Given the description of an element on the screen output the (x, y) to click on. 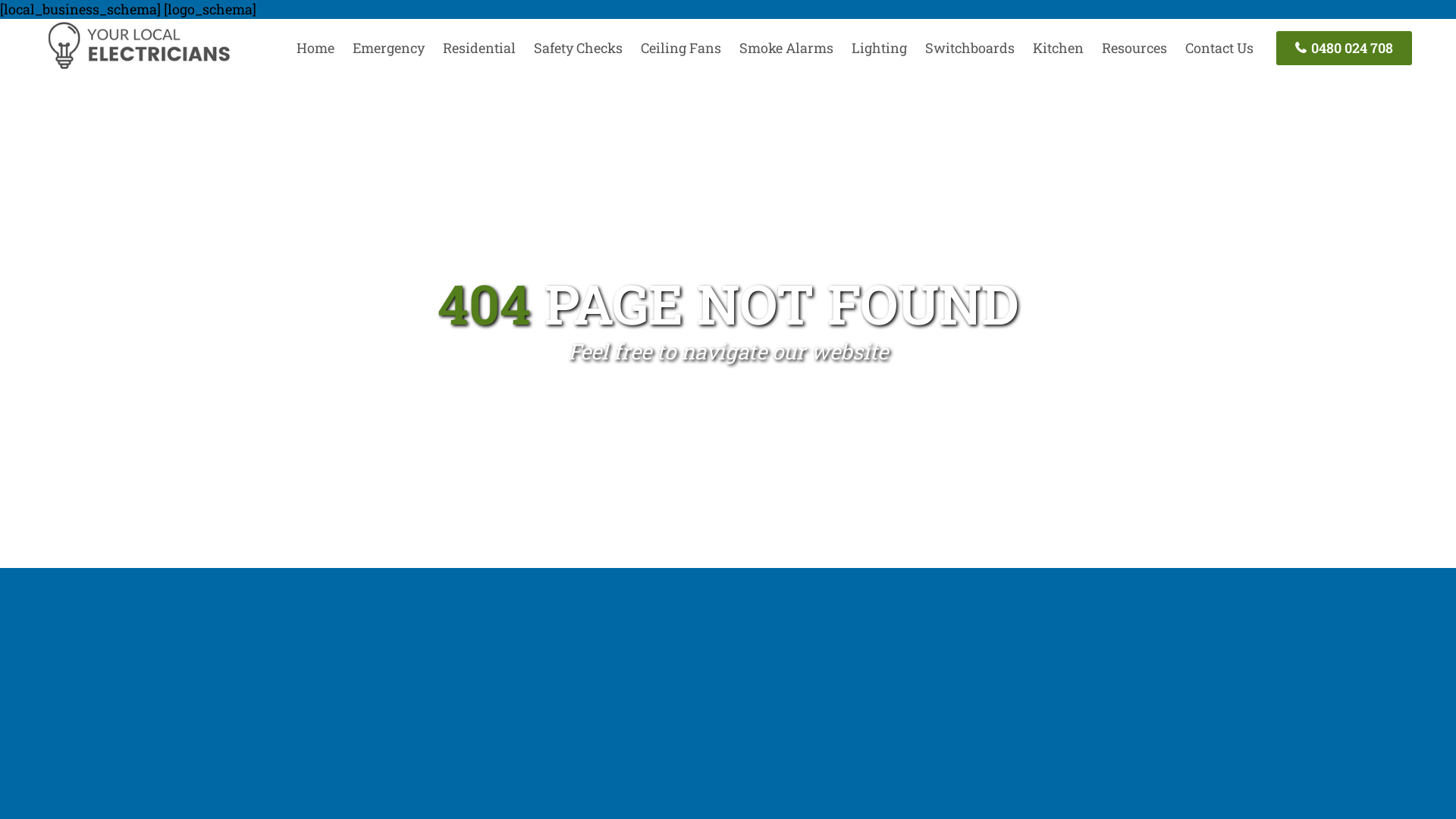
Ceiling Fans Element type: text (680, 47)
Switchboards Element type: text (969, 47)
Contact Us Element type: text (1219, 47)
Lighting Element type: text (879, 47)
Resources Element type: text (1134, 47)
Electricians Element type: hover (137, 66)
Emergency Element type: text (388, 47)
0480 024 708 Element type: text (1344, 48)
Kitchen Element type: text (1058, 47)
Residential Element type: text (479, 47)
Home Element type: text (315, 47)
Safety Checks Element type: text (578, 47)
Smoke Alarms Element type: text (785, 47)
